Given the description of an element on the screen output the (x, y) to click on. 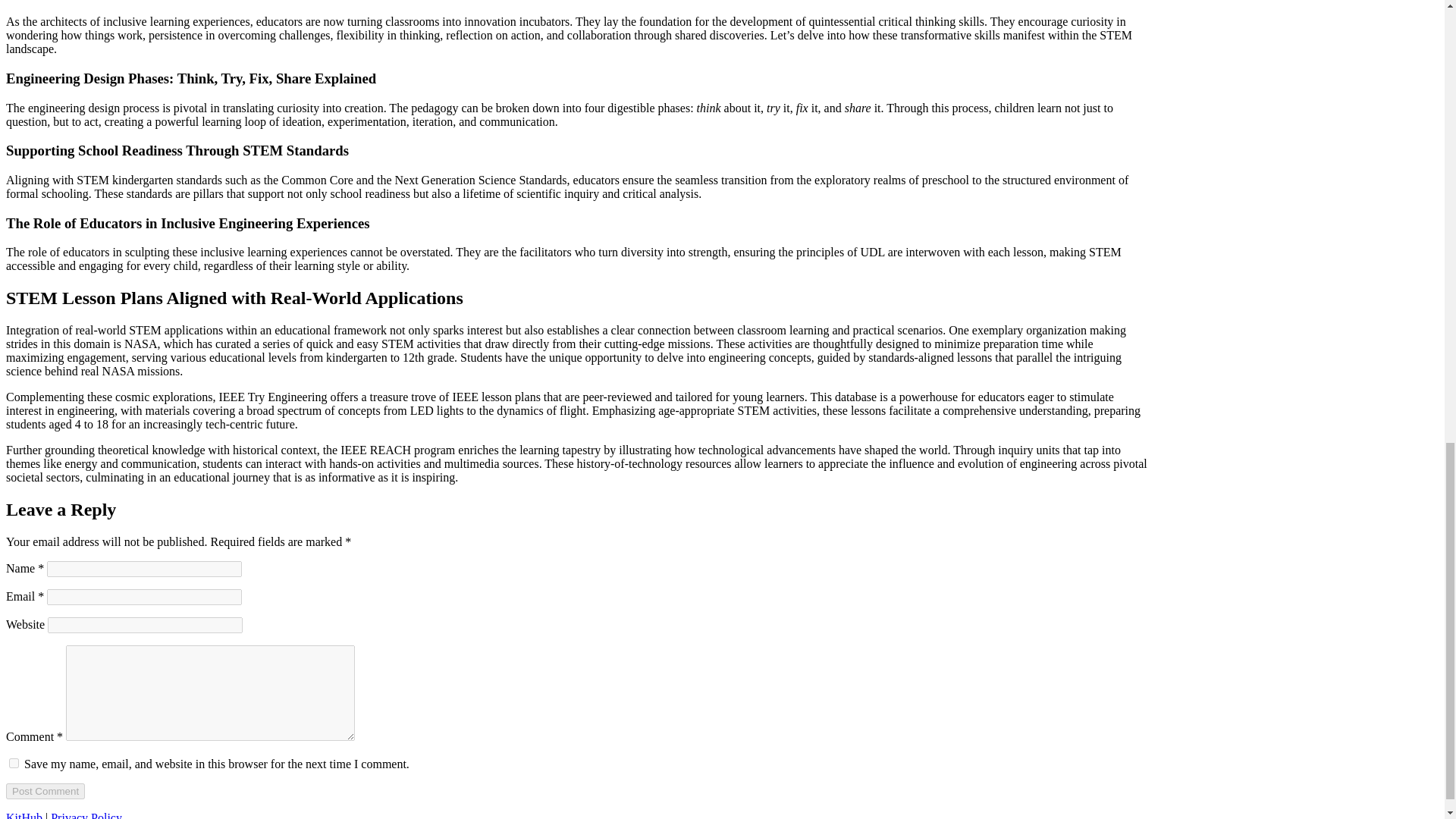
Post Comment (44, 790)
Post Comment (44, 790)
yes (13, 763)
